Given the description of an element on the screen output the (x, y) to click on. 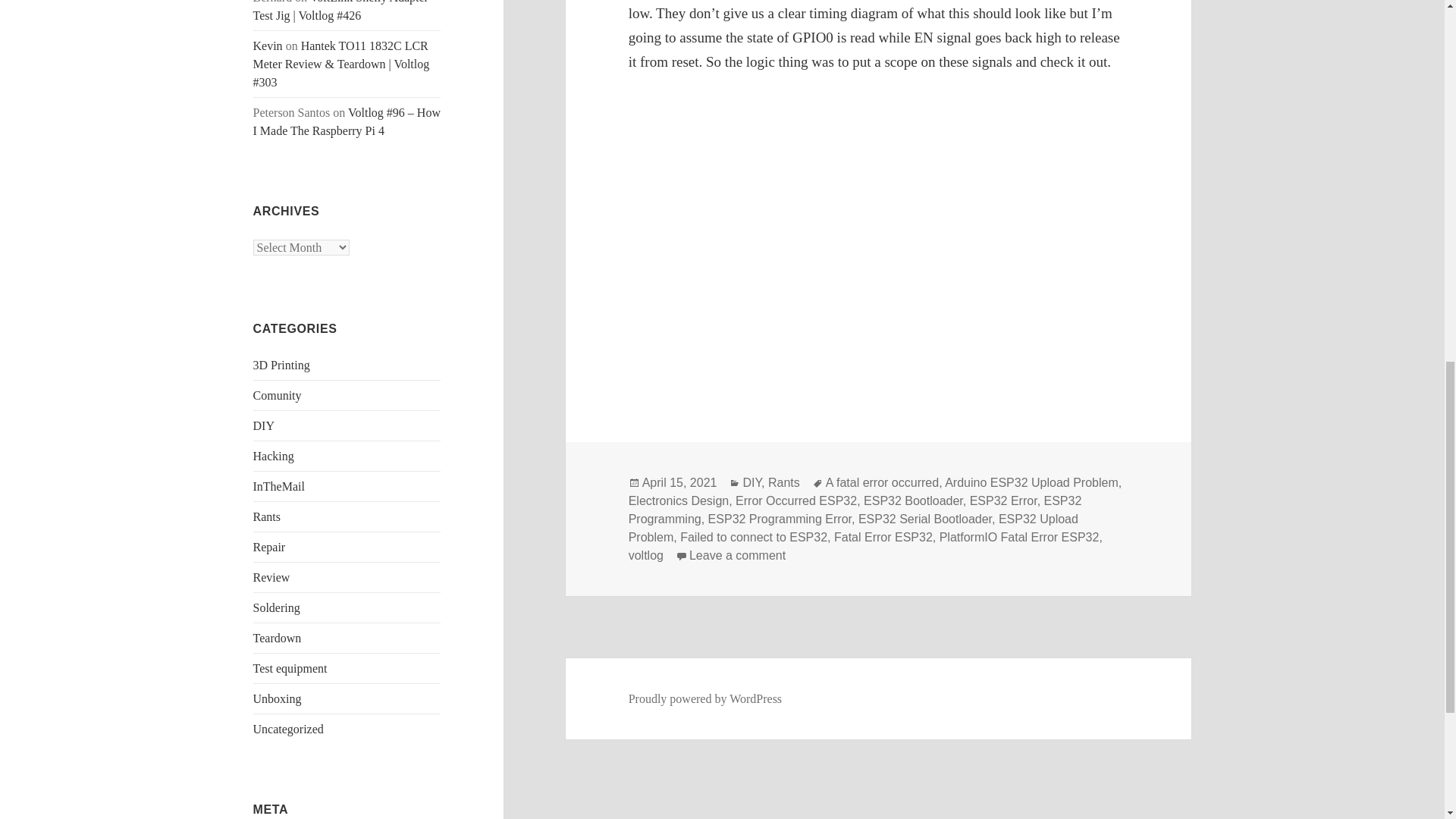
DIY (264, 425)
Rants (783, 482)
This category will hold review articles. (271, 576)
Teardown (277, 637)
This category will hold InTheMail articles. (278, 486)
Rants (267, 516)
Soldering (276, 607)
Review (271, 576)
Hacking (273, 455)
Comunity (277, 395)
